Given the description of an element on the screen output the (x, y) to click on. 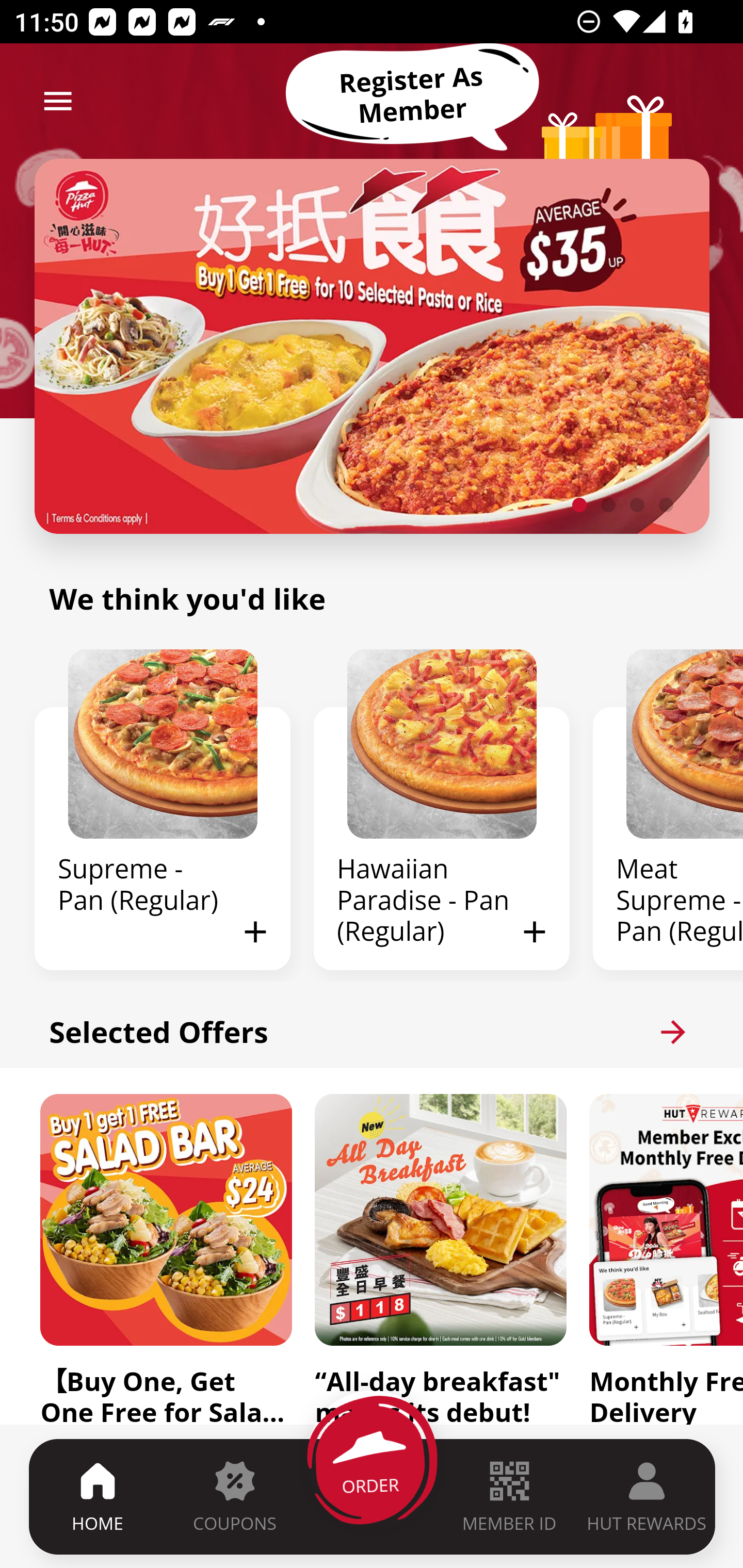
Register As Member (411, 95)
menu (58, 100)
arrow_forward (672, 1031)
HOME (97, 1496)
COUPONS (234, 1496)
ORDER (372, 1496)
MEMBER ID (509, 1496)
HUT REWARDS (647, 1496)
